Given the description of an element on the screen output the (x, y) to click on. 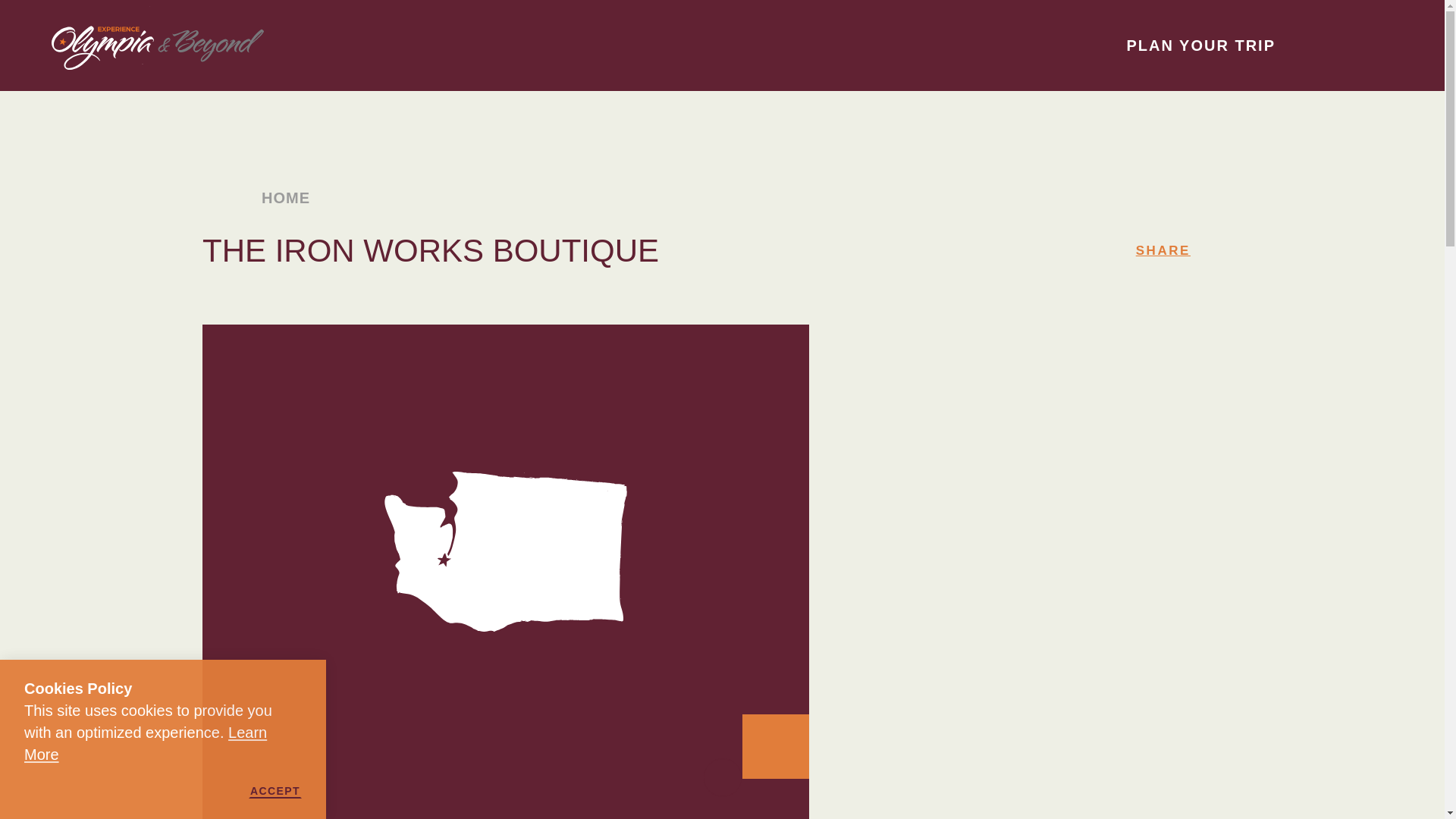
HOME (278, 197)
PLAN YOUR TRIP (1216, 45)
Skip to content (17, 15)
SHARE (1163, 250)
